Given the description of an element on the screen output the (x, y) to click on. 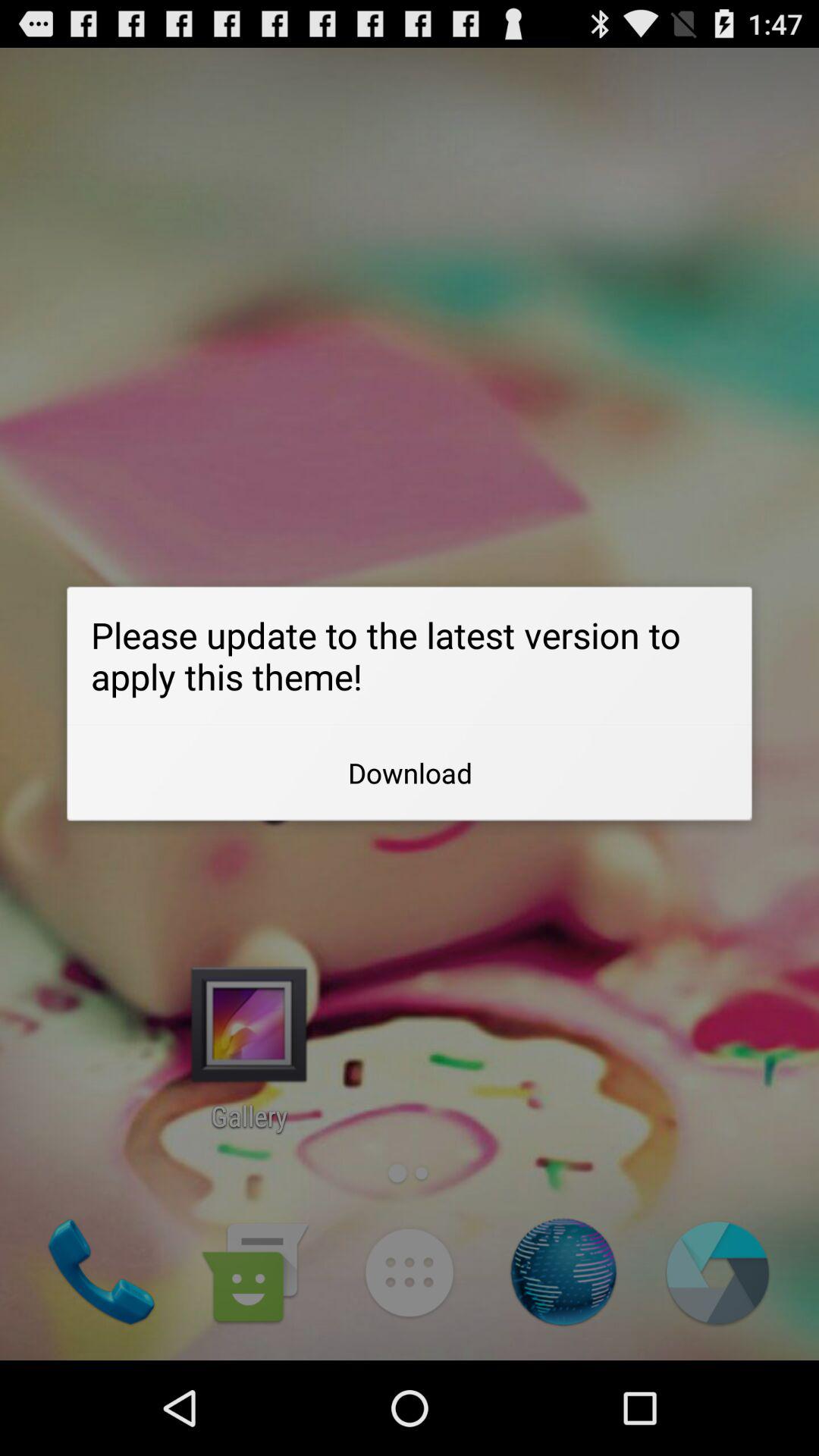
turn off app below please update to app (409, 772)
